Given the description of an element on the screen output the (x, y) to click on. 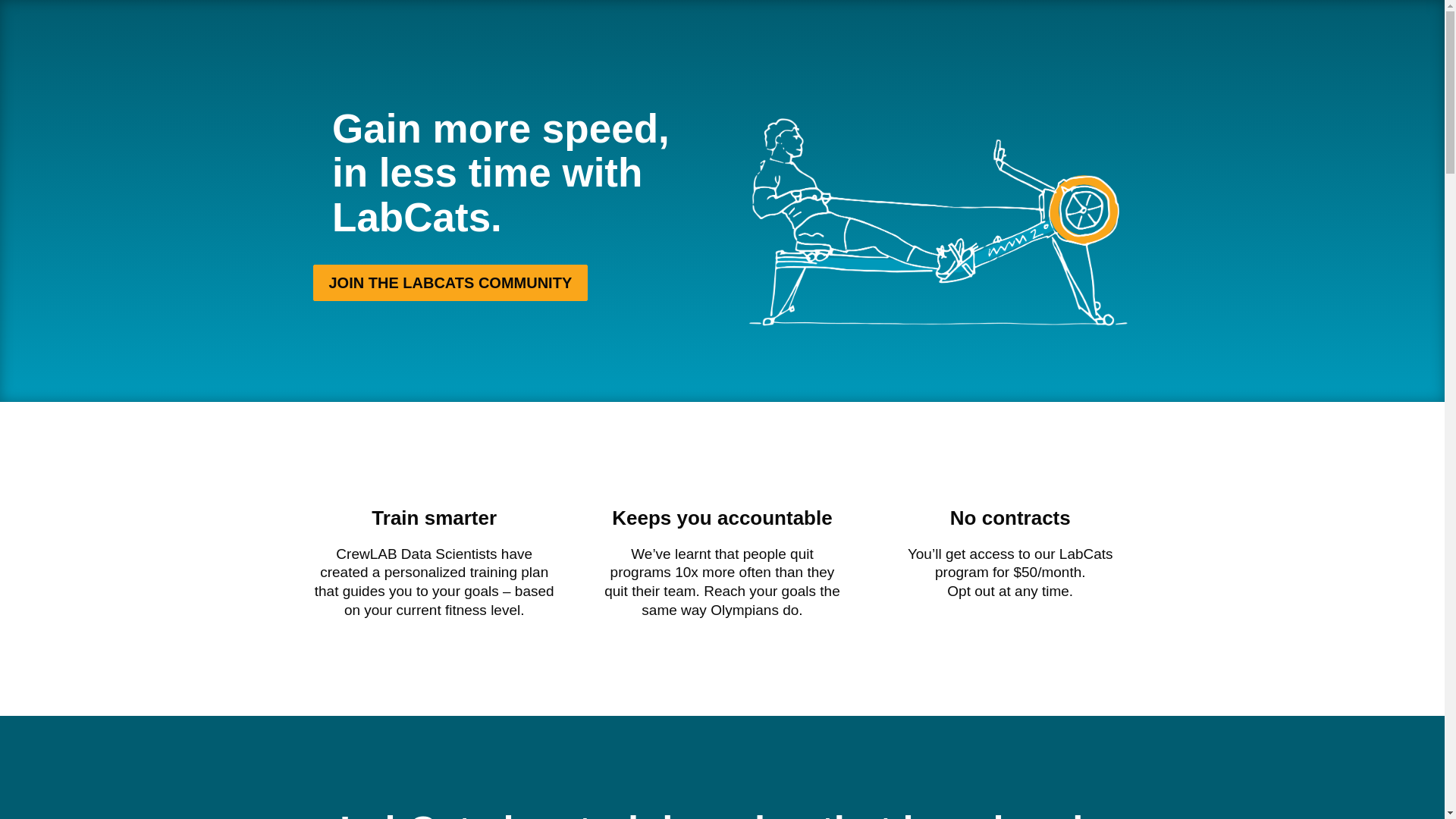
JOIN THE LABCATS COMMUNITY (450, 282)
